Given the description of an element on the screen output the (x, y) to click on. 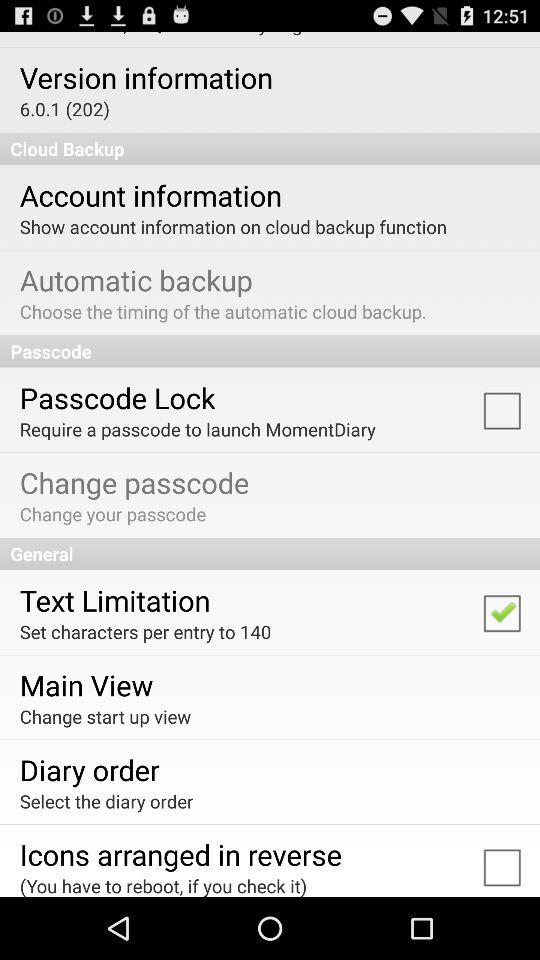
open text limitation app (114, 599)
